Given the description of an element on the screen output the (x, y) to click on. 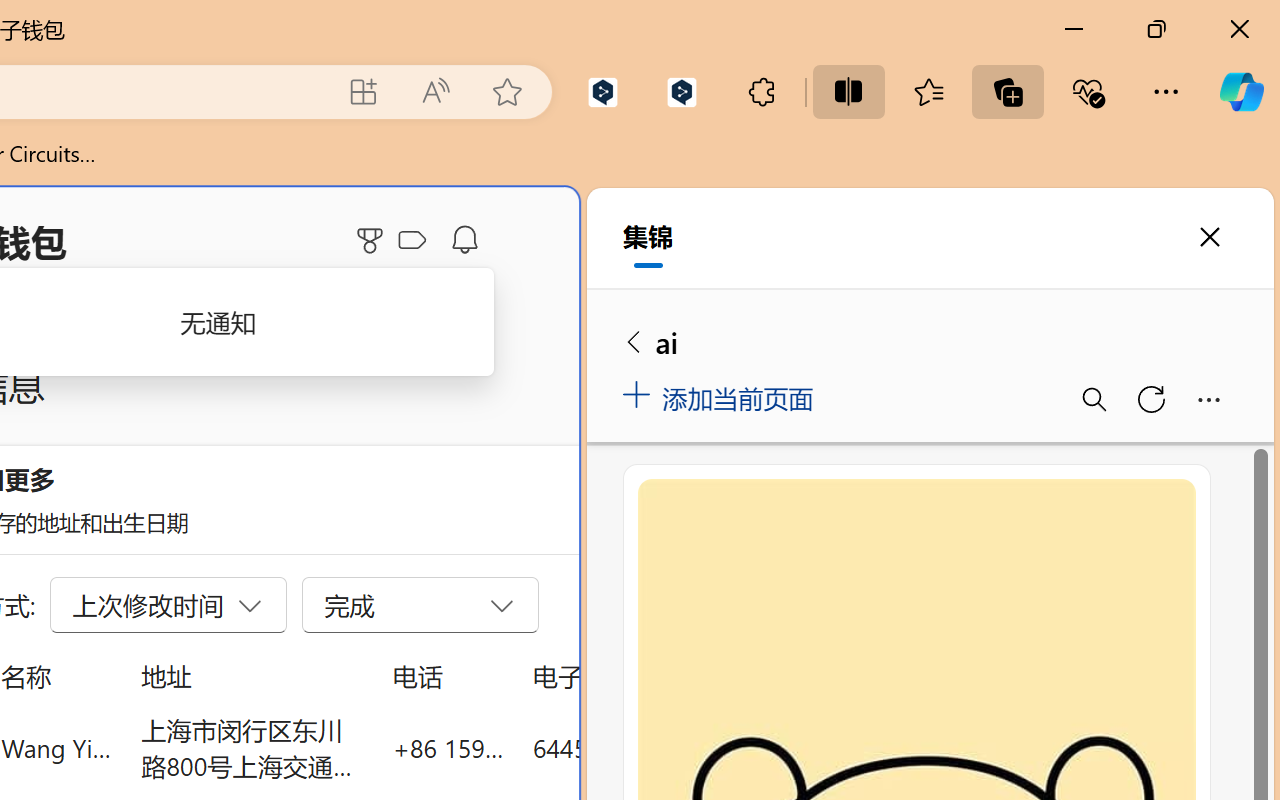
Class: ___1lmltc5 f1agt3bx f12qytpq (411, 241)
644553698@qq.com (644, 747)
+86 159 0032 4640 (447, 747)
Microsoft Rewards (373, 240)
